Given the description of an element on the screen output the (x, y) to click on. 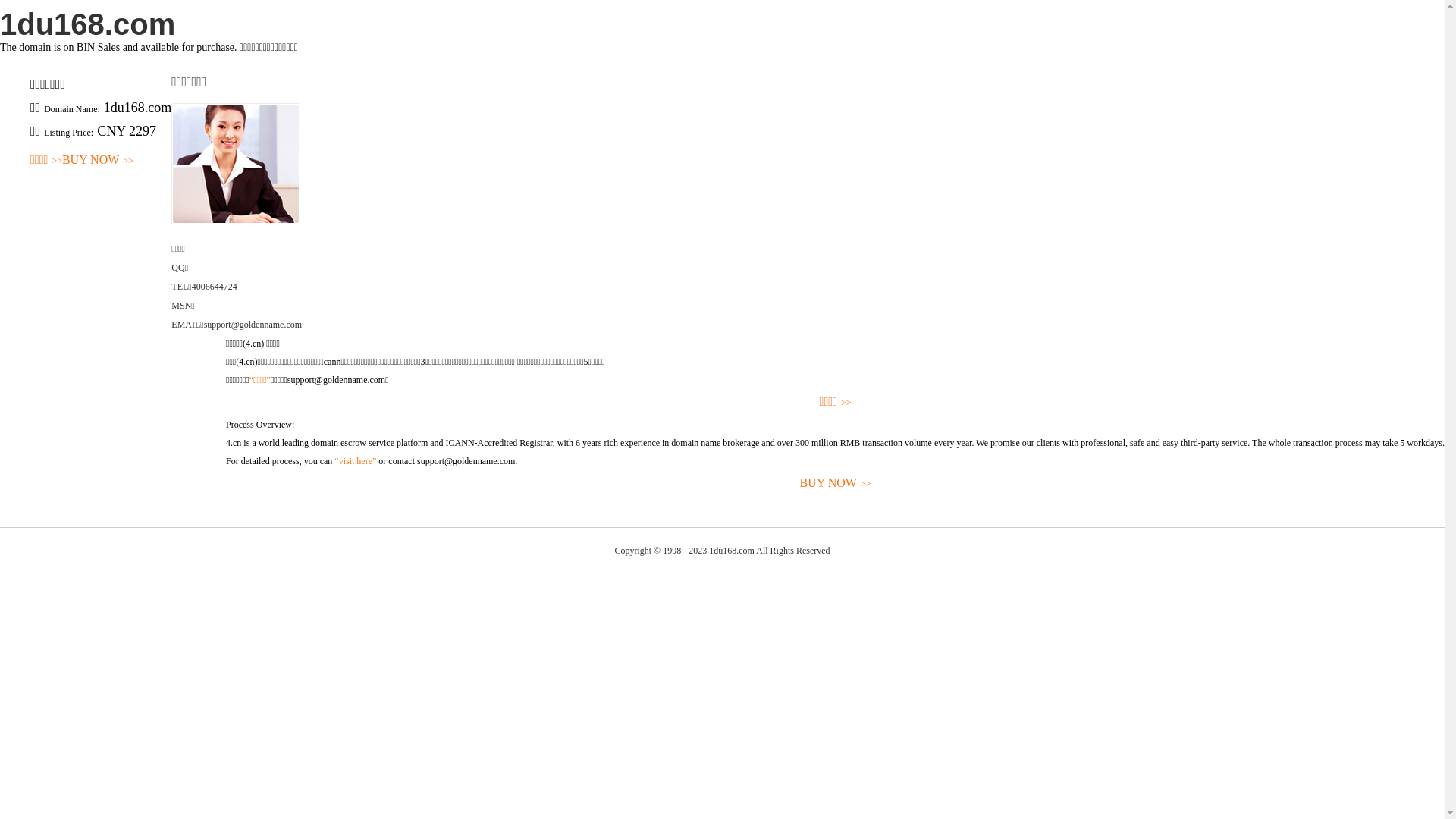
BUY NOW>> Element type: text (97, 160)
BUY NOW>> Element type: text (834, 483)
